Given the description of an element on the screen output the (x, y) to click on. 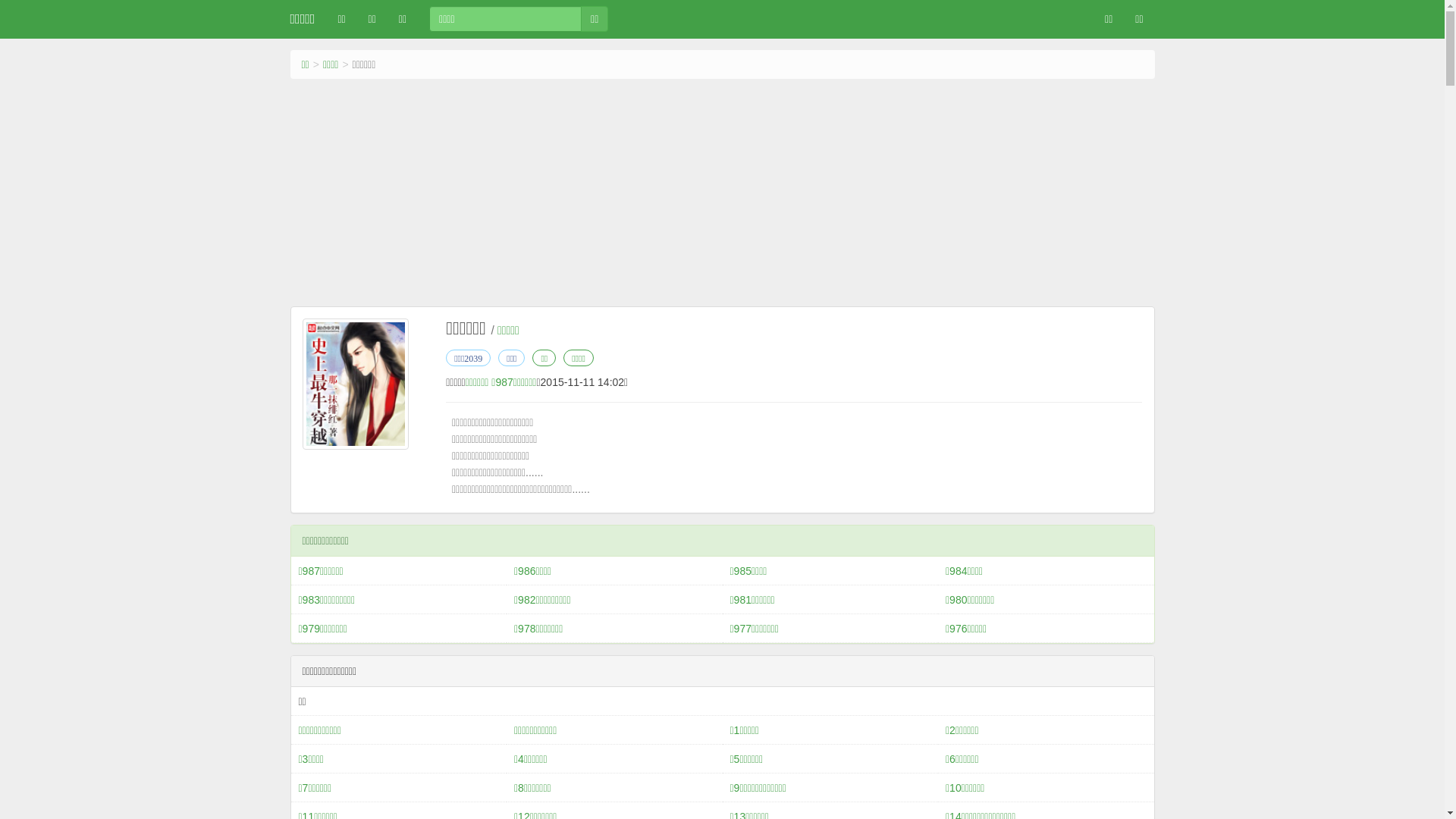
Advertisement Element type: hover (721, 192)
